Given the description of an element on the screen output the (x, y) to click on. 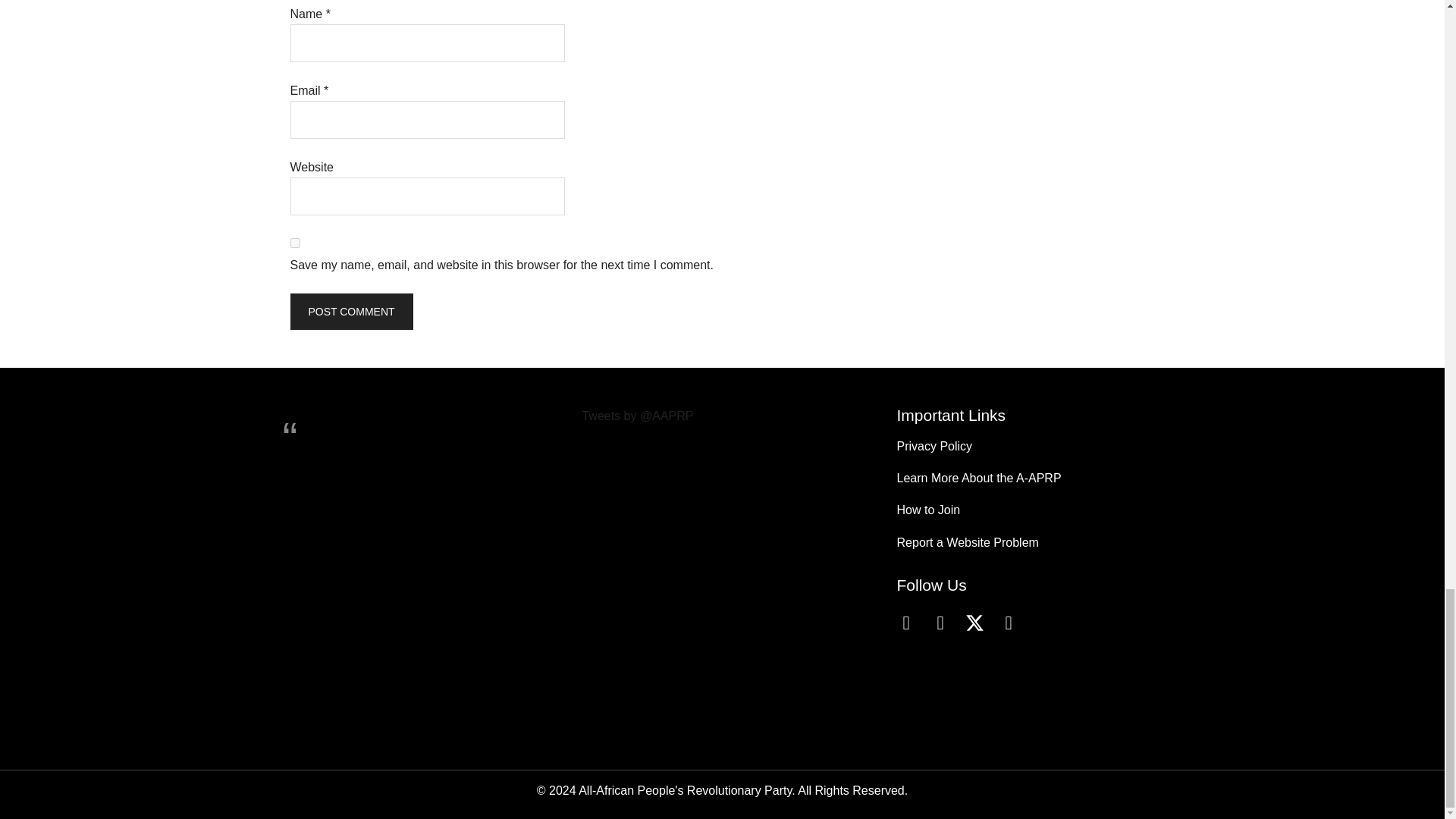
Post Comment (350, 311)
yes (294, 243)
Facebook (905, 622)
Instagram (940, 622)
